Given the description of an element on the screen output the (x, y) to click on. 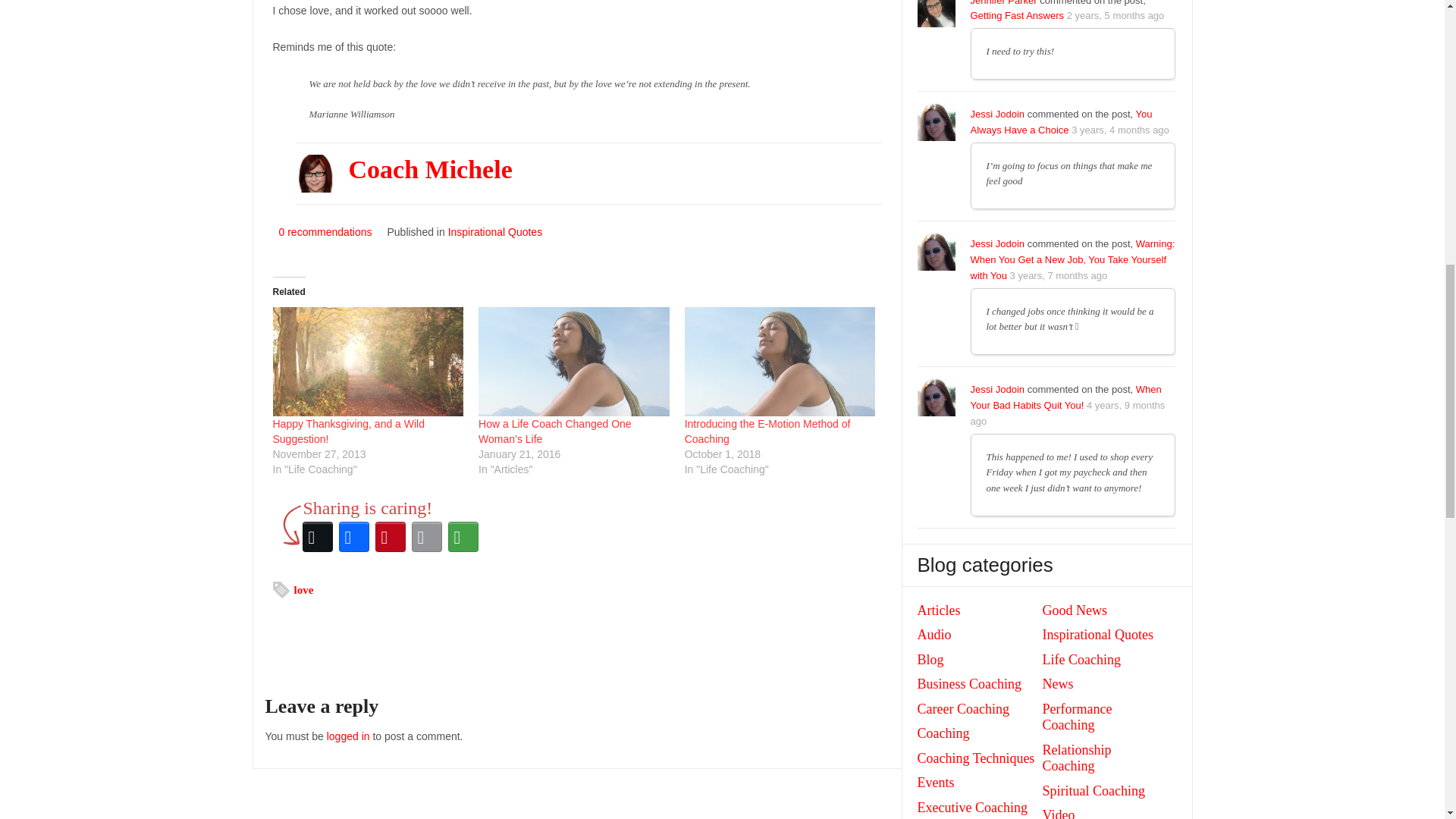
Inspirational Quotes (495, 232)
Email This (425, 536)
Pinterest (389, 536)
Introducing the E-Motion Method of Coaching (767, 431)
Happy Thanksgiving, and a Wild Suggestion! (349, 431)
Introducing the E-Motion Method of Coaching (780, 361)
Coach Michele (430, 169)
Happy Thanksgiving, and a Wild Suggestion! (349, 431)
More Options (462, 536)
Happy Thanksgiving, and a Wild Suggestion! (368, 361)
Facebook (352, 536)
Recommend this article (322, 232)
Introducing the E-Motion Method of Coaching (767, 431)
0 recommendations (322, 232)
